Given the description of an element on the screen output the (x, y) to click on. 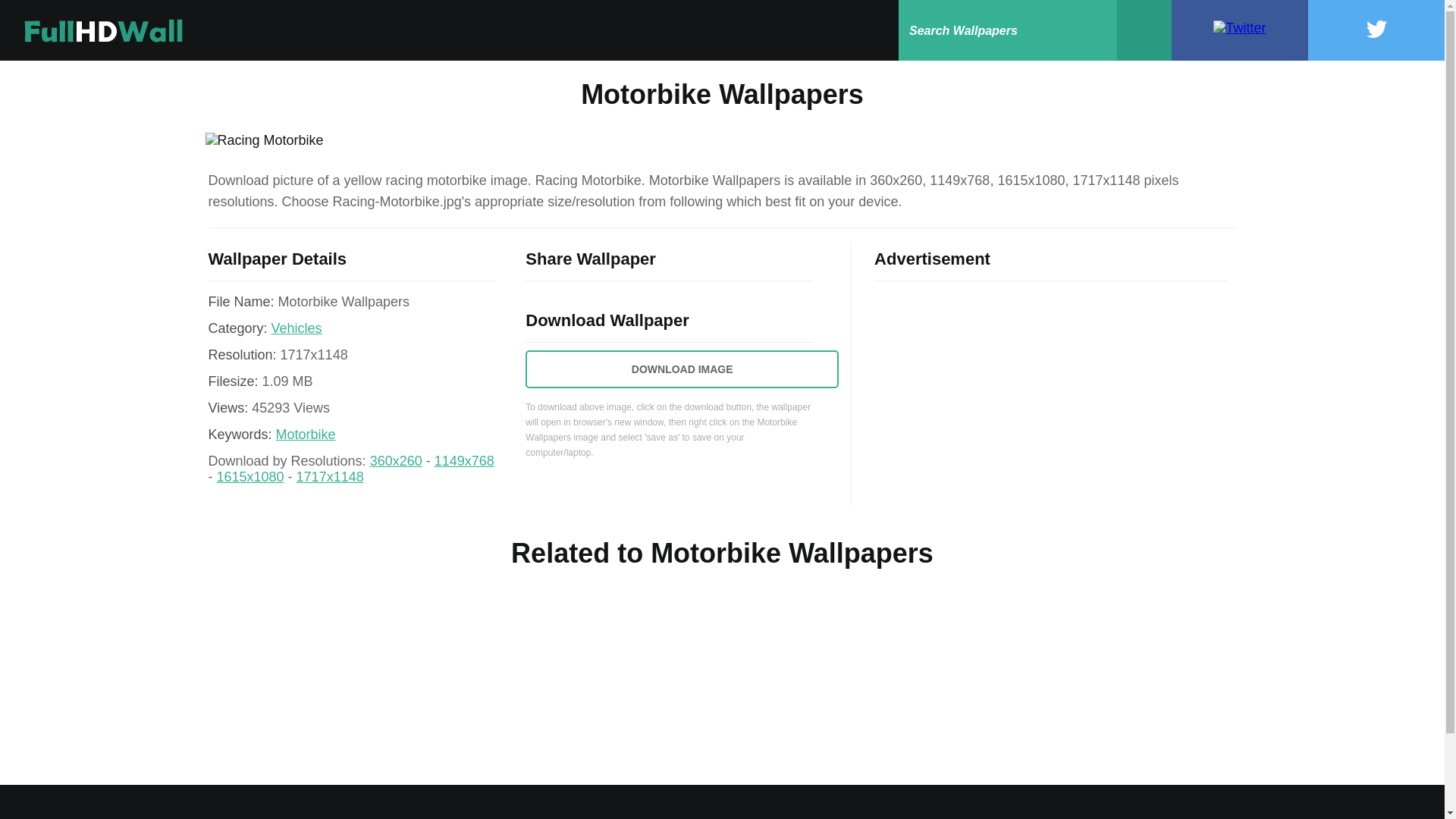
View all posts in Vehicles (295, 328)
